Given the description of an element on the screen output the (x, y) to click on. 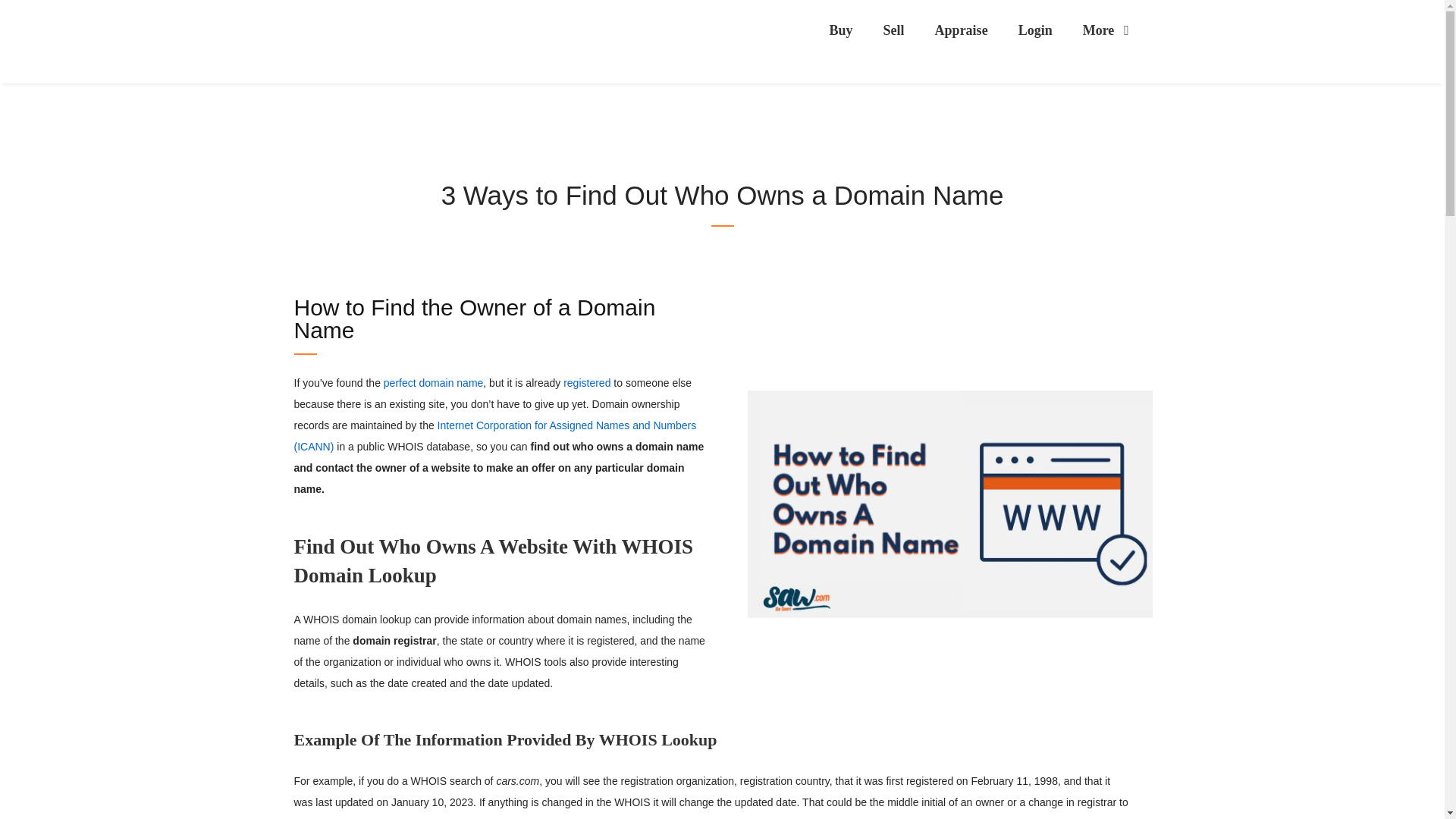
registered (586, 382)
More (1107, 30)
perfect domain name (433, 382)
Appraise (961, 30)
Login (1035, 30)
